Given the description of an element on the screen output the (x, y) to click on. 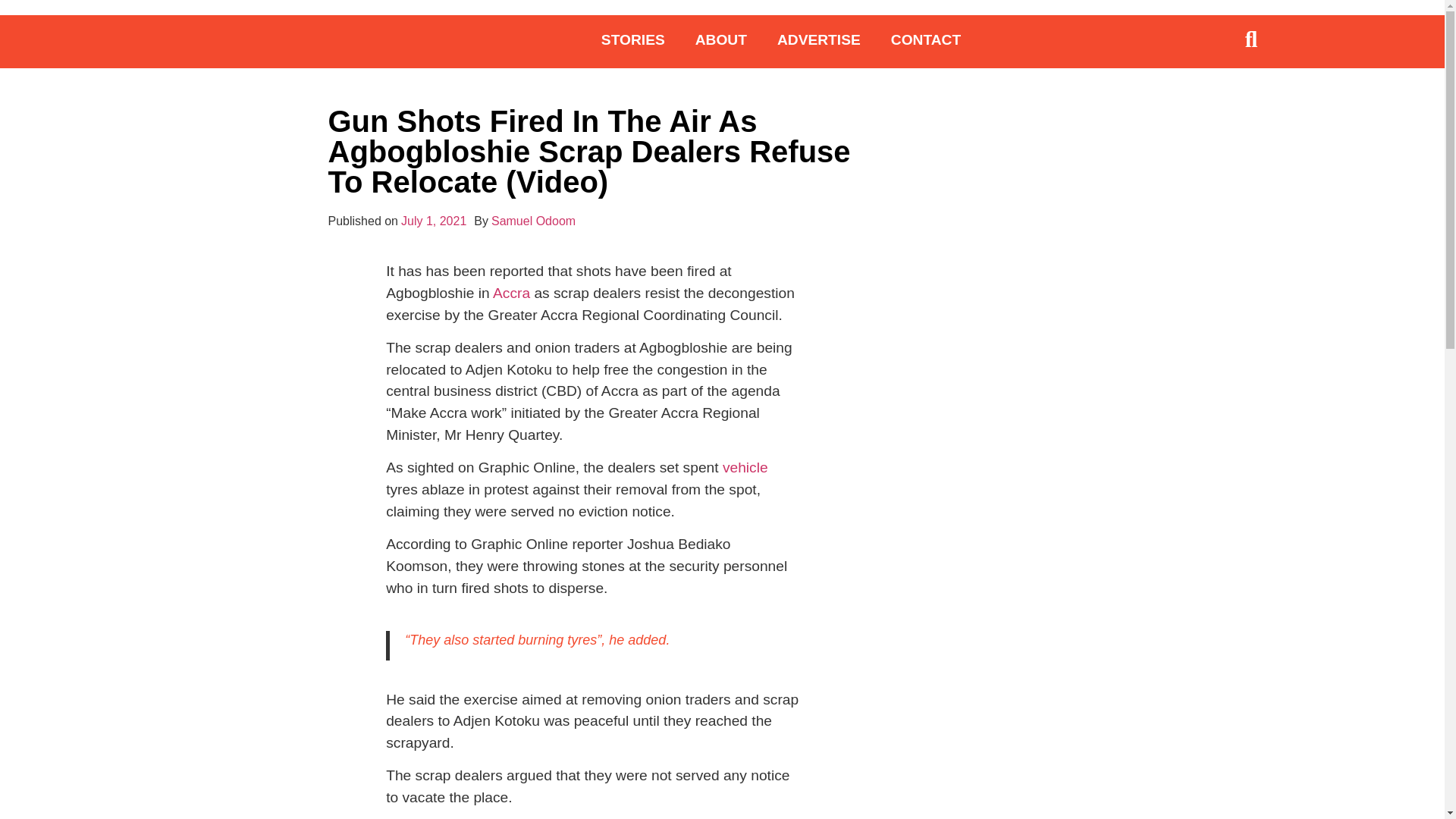
July 1, 2021 (433, 221)
CONTACT (925, 39)
STORIES (632, 39)
ADVERTISE (818, 39)
ABOUT (720, 39)
Accra (511, 293)
vehicle (745, 467)
Samuel Odoom (533, 221)
